Given the description of an element on the screen output the (x, y) to click on. 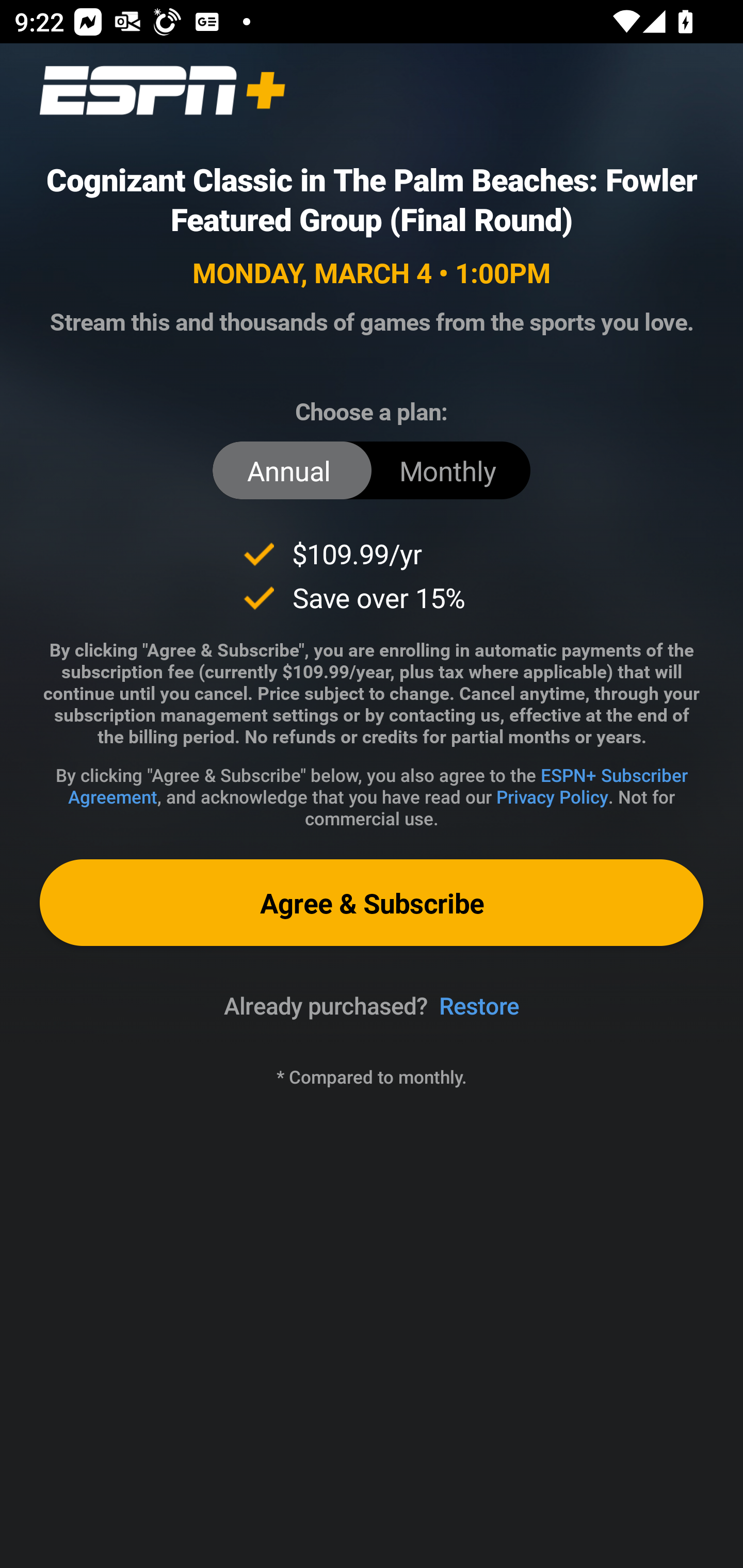
Agree & Subscribe (371, 902)
